Given the description of an element on the screen output the (x, y) to click on. 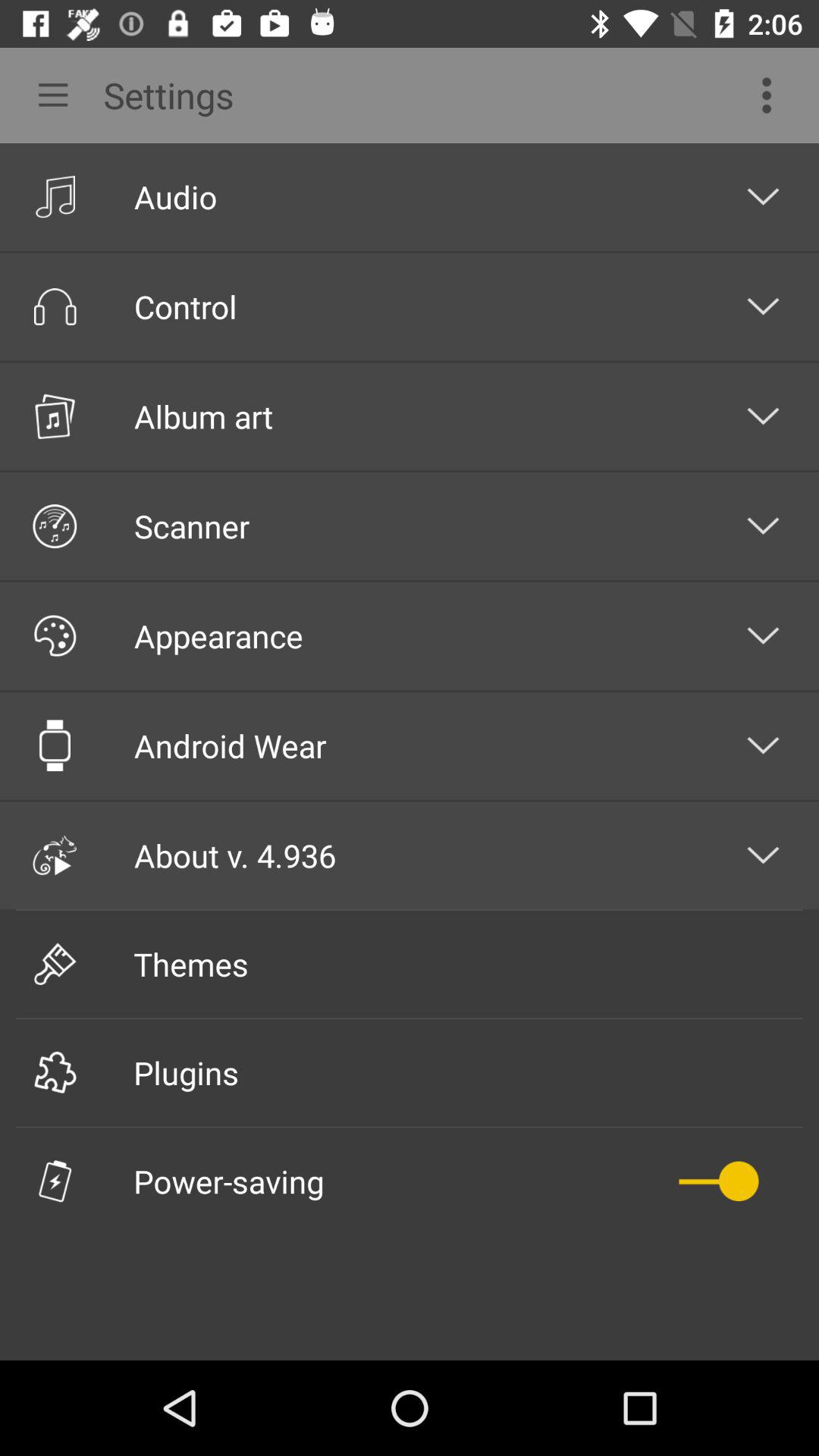
choose the item next to the settings item (771, 95)
